Given the description of an element on the screen output the (x, y) to click on. 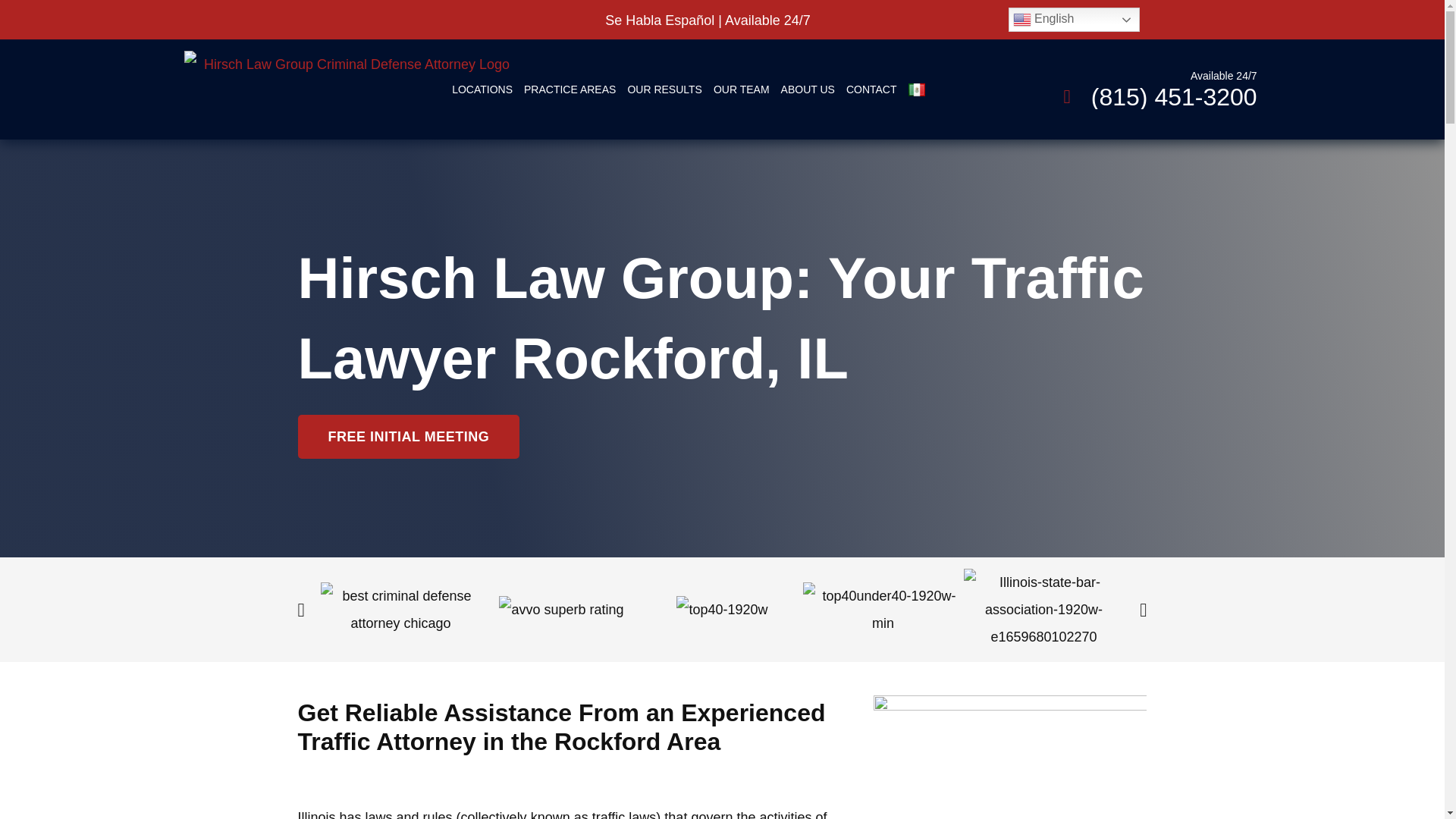
English (1074, 19)
PRACTICE AREAS (569, 89)
OUR TEAM (741, 89)
ABOUT US (807, 89)
OUR RESULTS (664, 89)
LOCATIONS (482, 89)
